Given the description of an element on the screen output the (x, y) to click on. 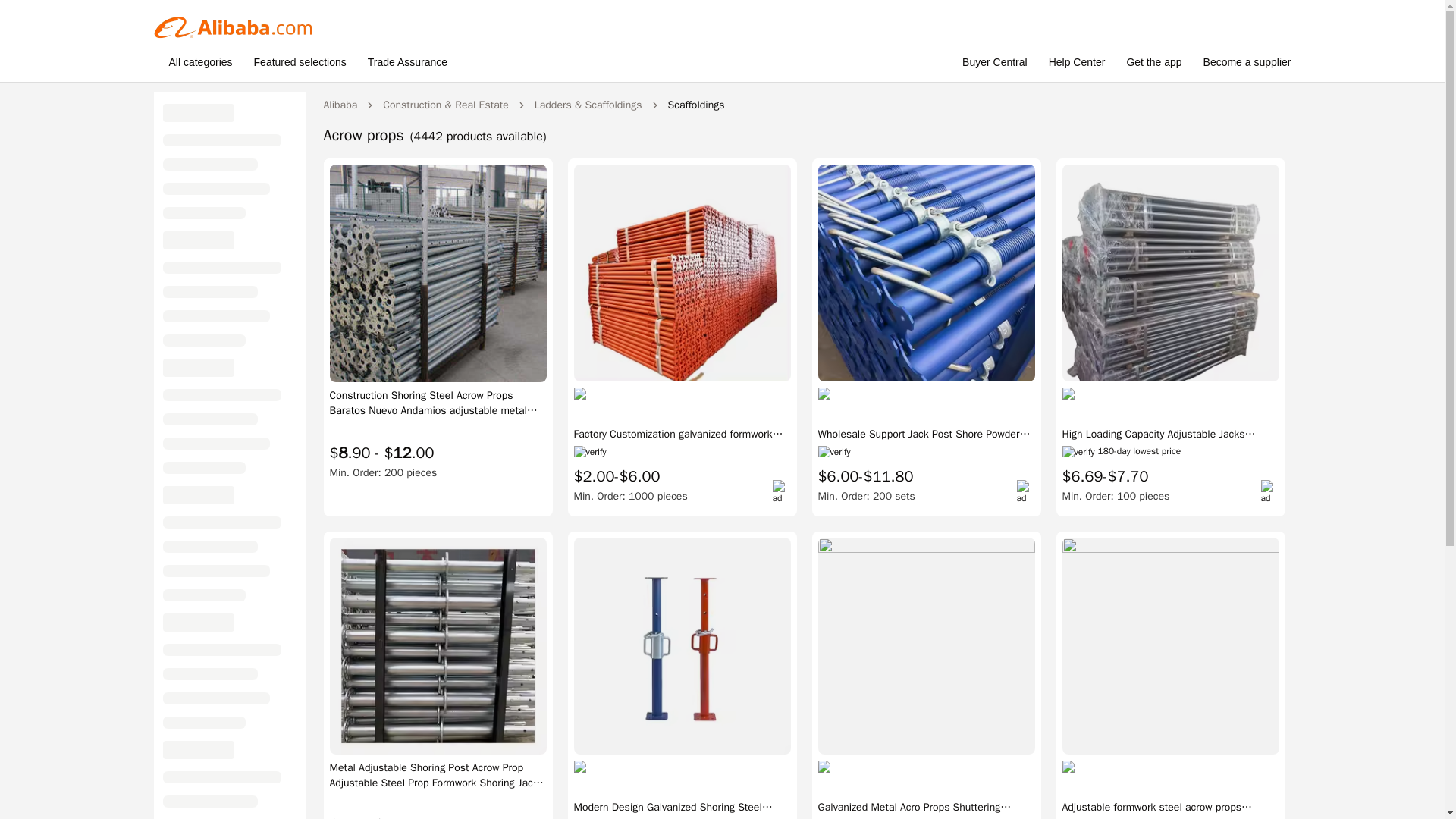
Alibaba (339, 105)
